Given the description of an element on the screen output the (x, y) to click on. 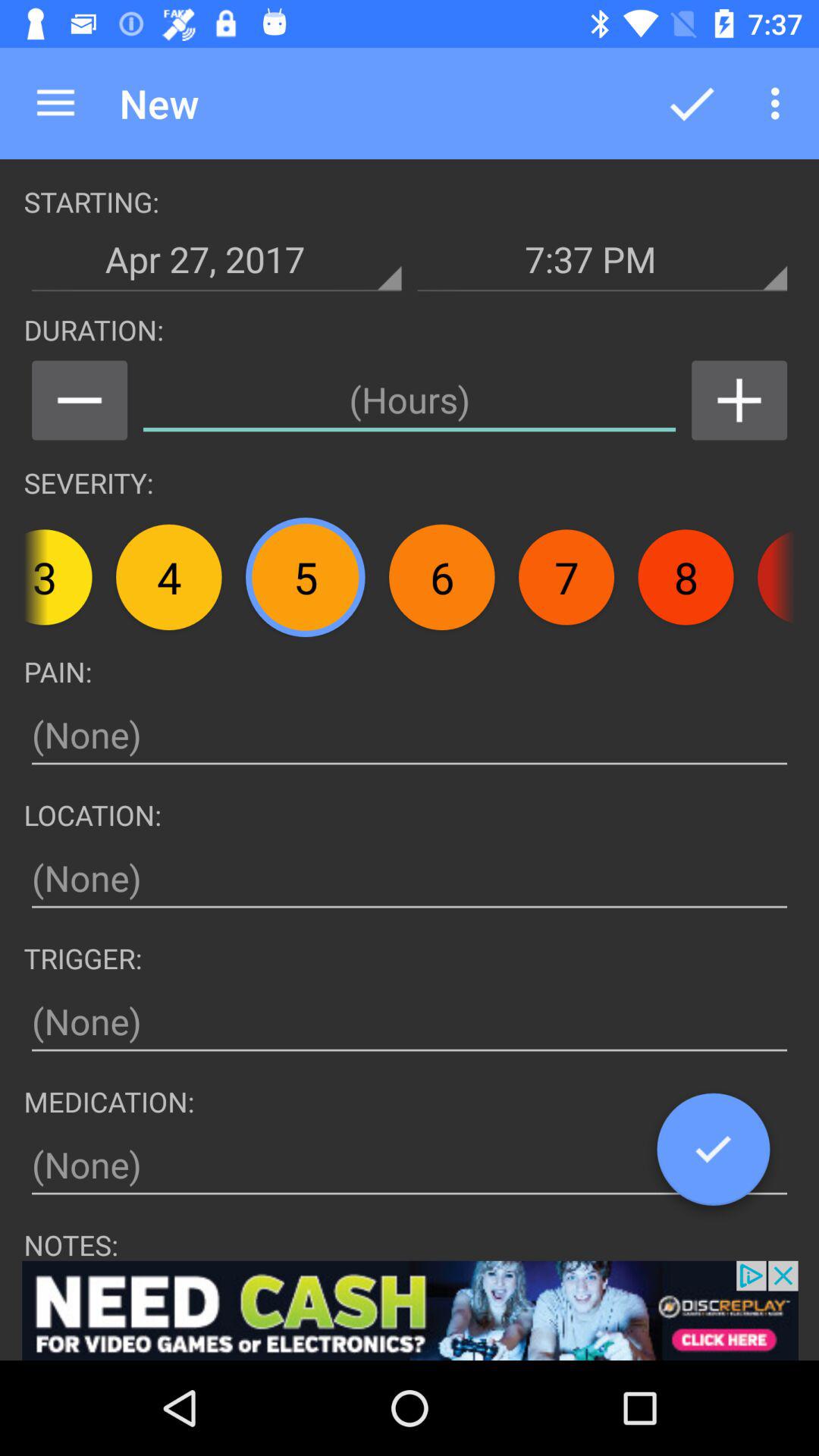
add the contact (739, 400)
